Given the description of an element on the screen output the (x, y) to click on. 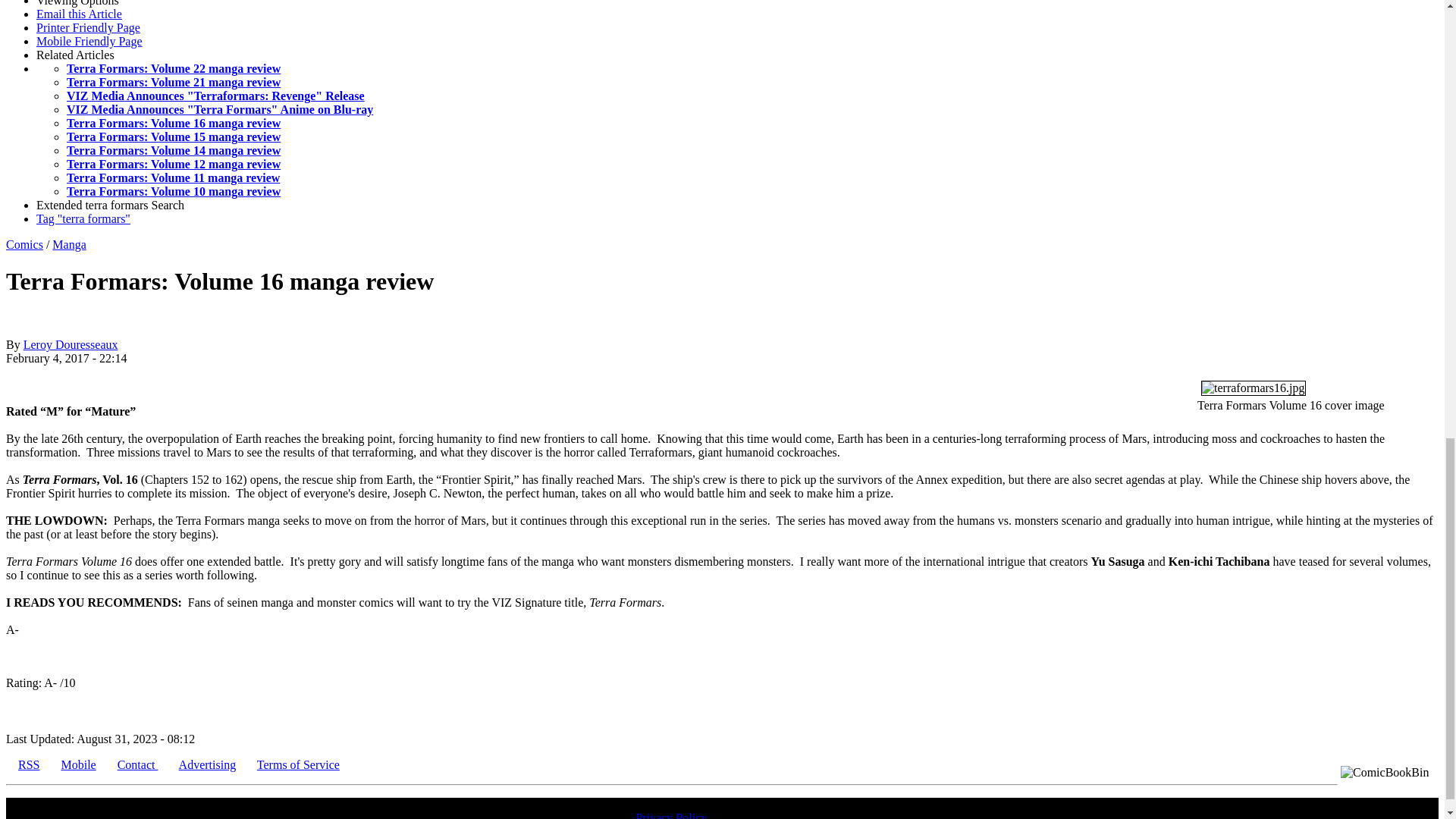
Advertising (207, 764)
Mobile (78, 764)
RSS (28, 764)
Terms of Service (298, 764)
Contact (137, 764)
